Given the description of an element on the screen output the (x, y) to click on. 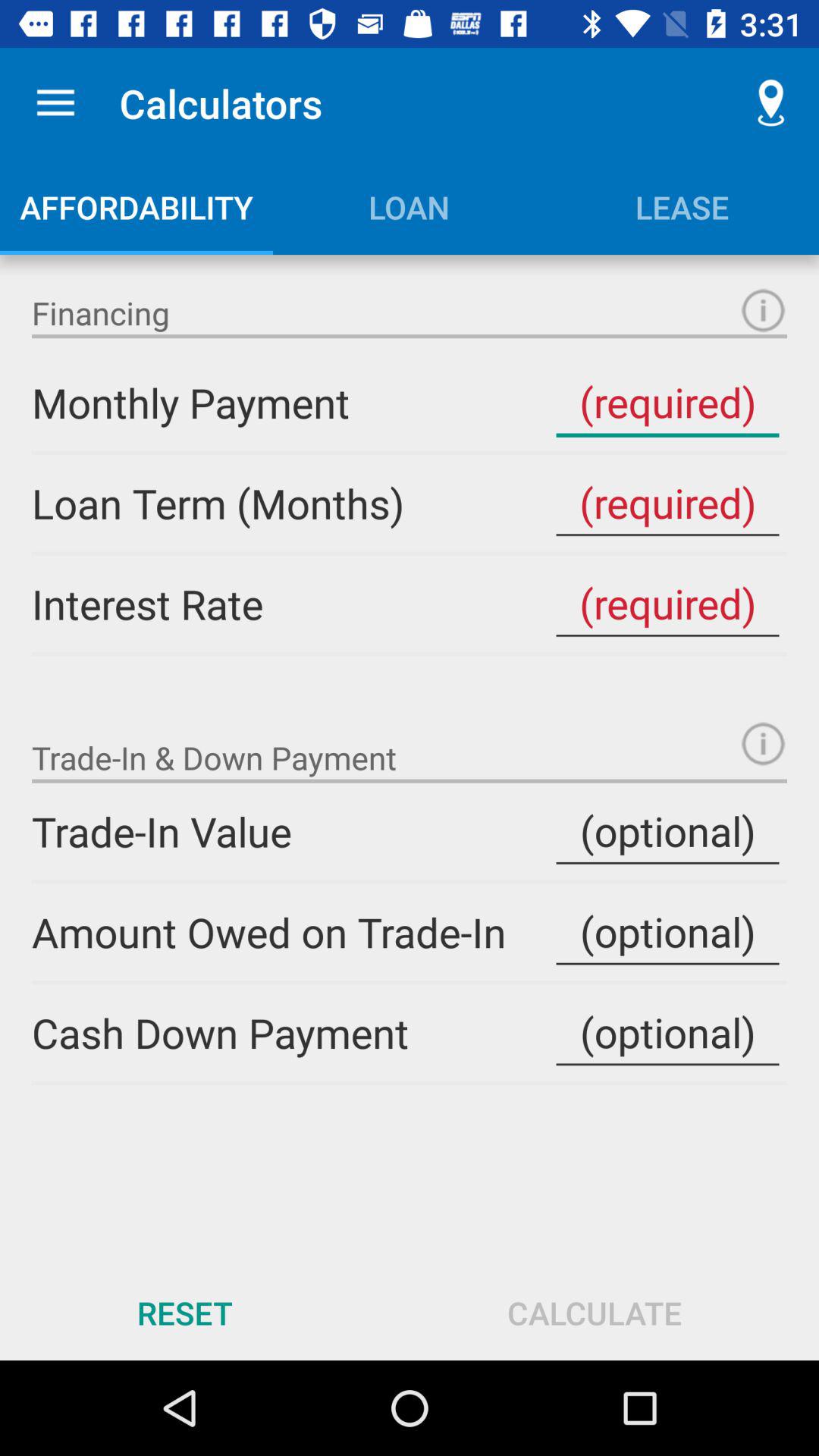
cash down option (667, 1032)
